Given the description of an element on the screen output the (x, y) to click on. 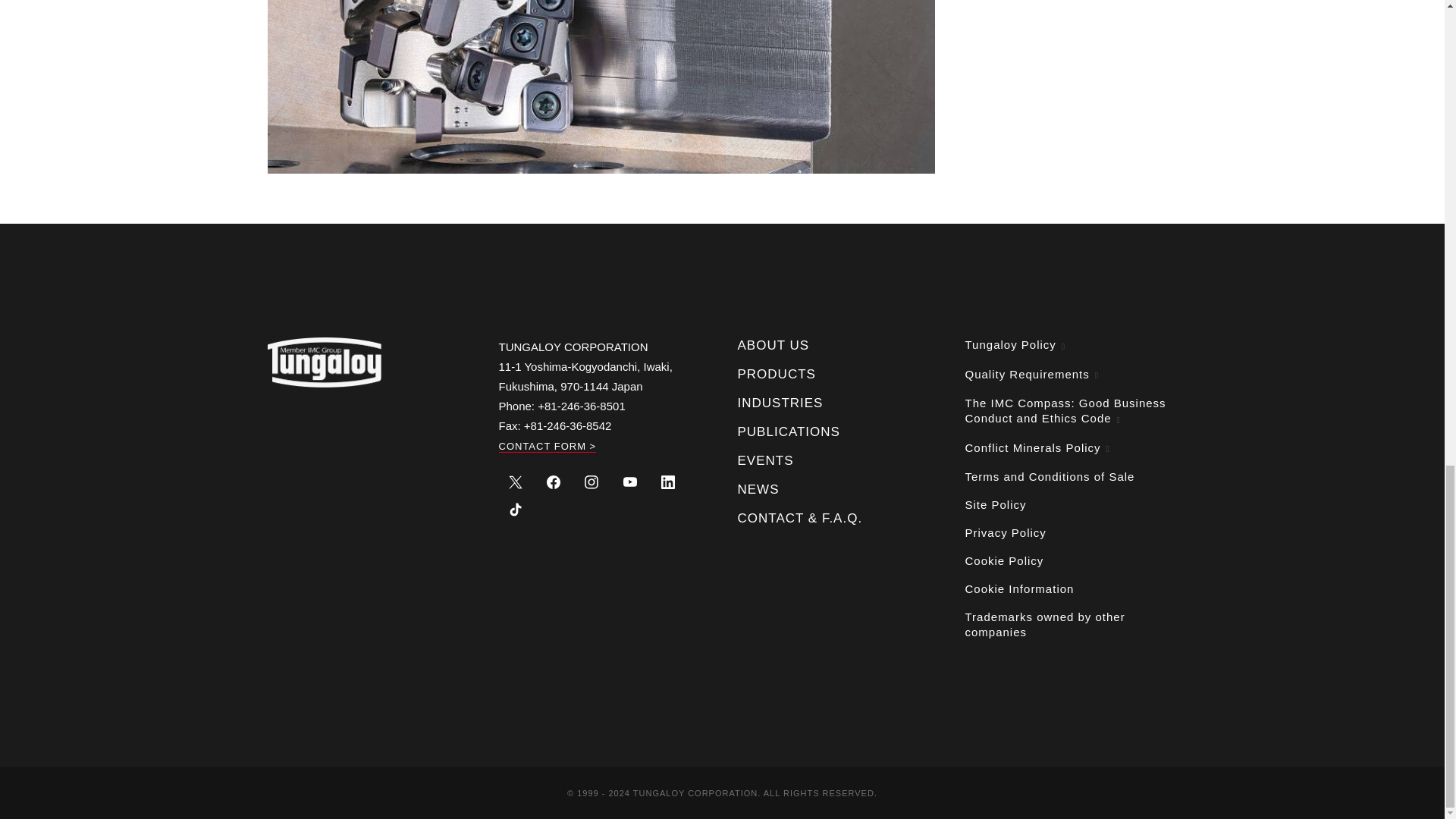
TikTok (515, 507)
YouTube (629, 480)
Instagram (591, 480)
LinkedIn (667, 480)
X (515, 480)
Facebook (553, 480)
